Given the description of an element on the screen output the (x, y) to click on. 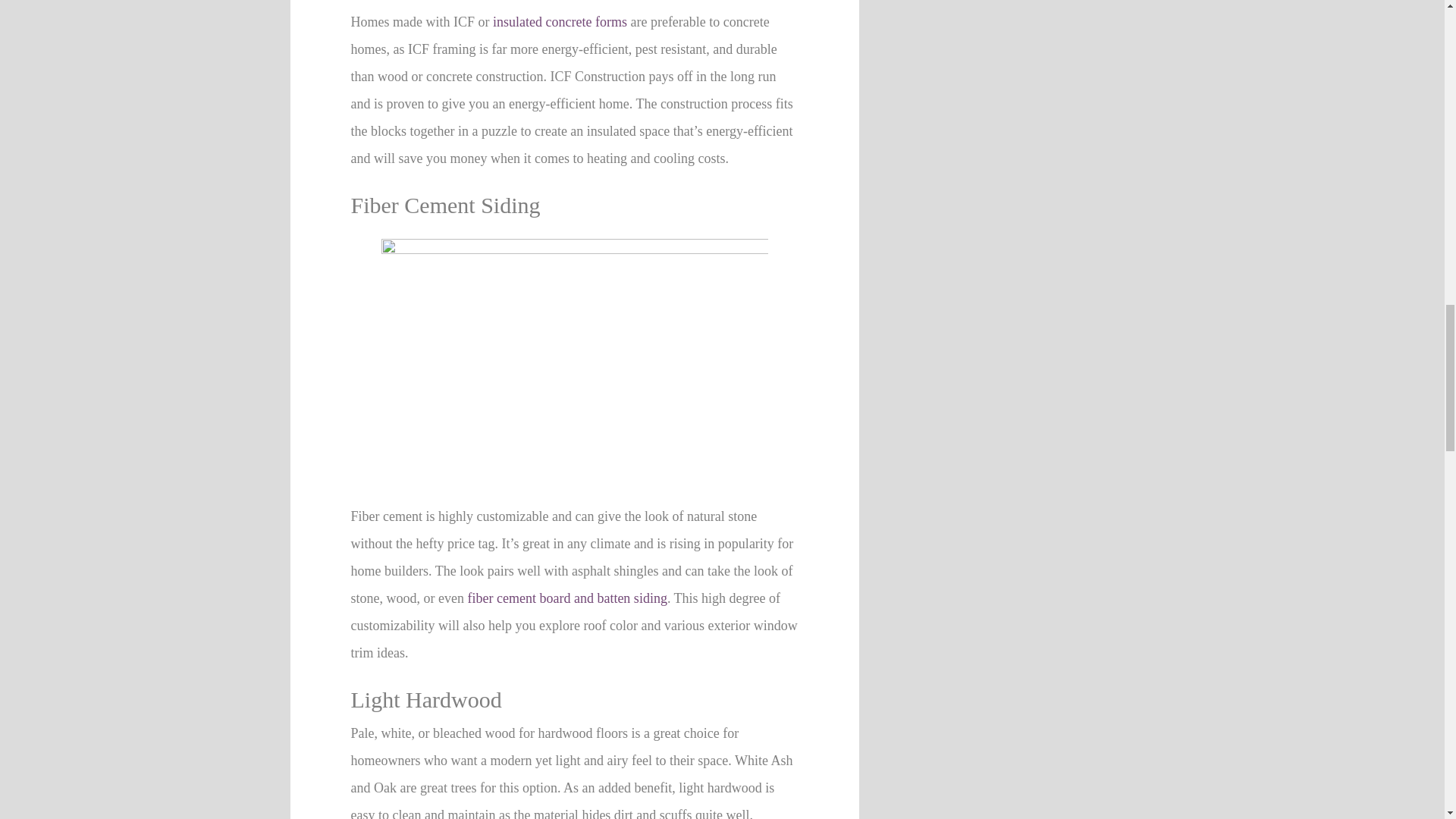
insulated concrete forms (560, 21)
fiber cement board and batten siding (566, 598)
